Given the description of an element on the screen output the (x, y) to click on. 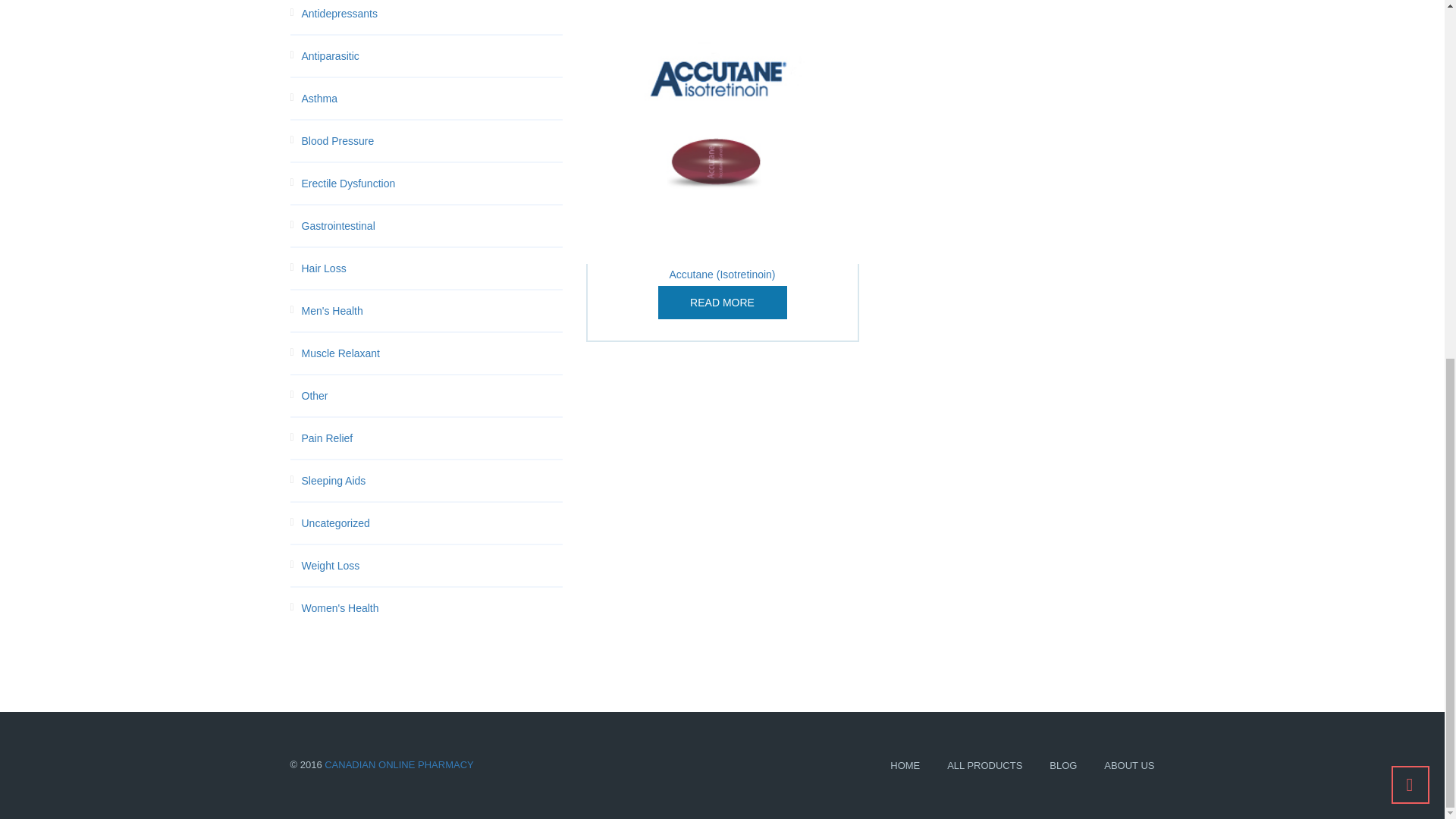
Gastrointestinal (432, 226)
Muscle Relaxant (432, 352)
ALL PRODUCTS (984, 765)
Hair Loss (432, 268)
Uncategorized (432, 523)
READ MORE (722, 302)
CANADIAN ONLINE PHARMACY (398, 764)
Women's Health (432, 607)
Blood Pressure (432, 140)
Other (432, 395)
HOME (904, 765)
Sleeping Aids (432, 480)
Pain Relief (432, 438)
Men's Health (432, 311)
Weight Loss (432, 565)
